Given the description of an element on the screen output the (x, y) to click on. 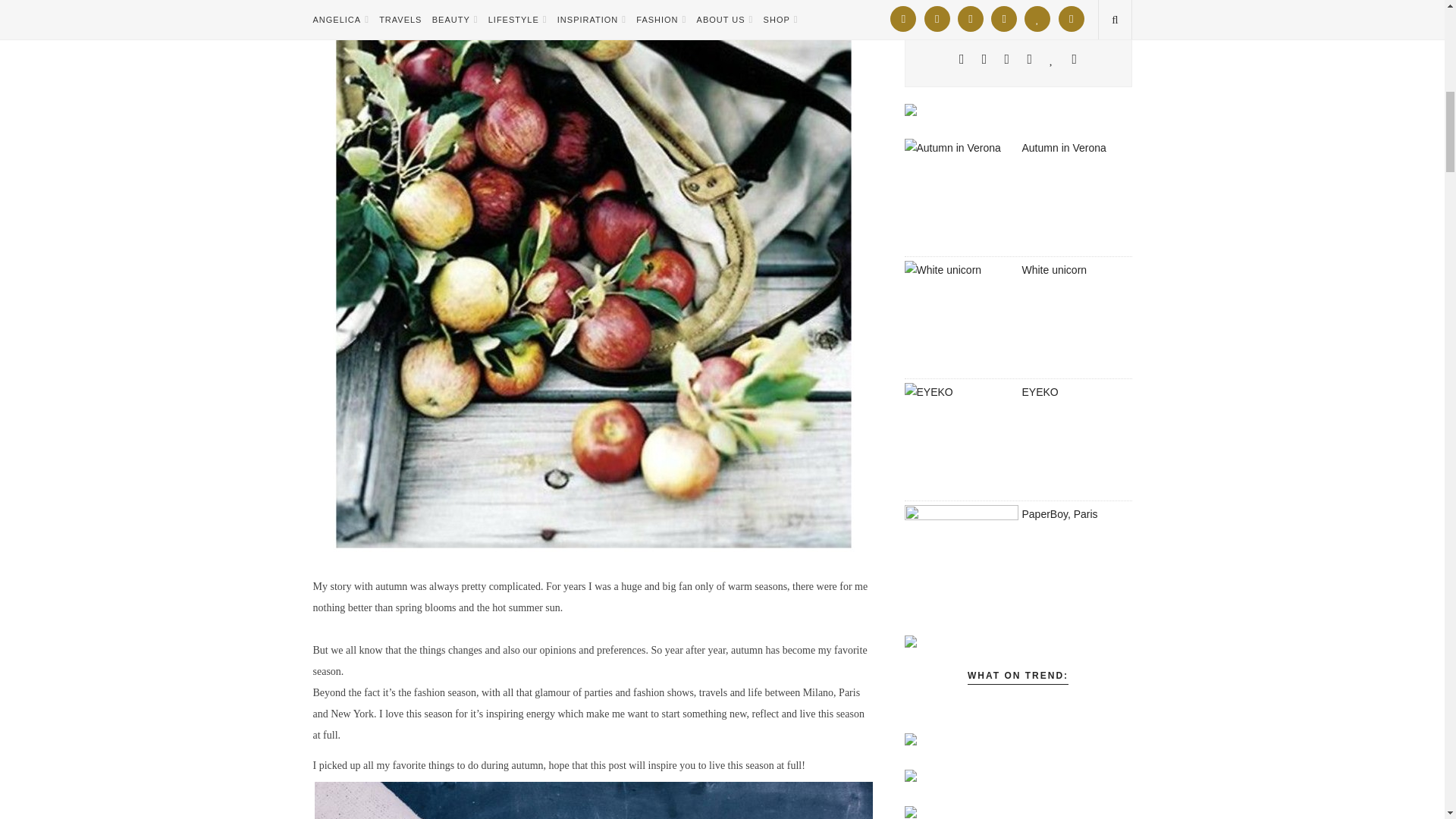
EYEKO (960, 439)
White unicorn (960, 317)
EYEKO (1040, 391)
Autumn in Verona (960, 195)
White unicorn (1054, 269)
Autumn in Verona (1064, 147)
